Given the description of an element on the screen output the (x, y) to click on. 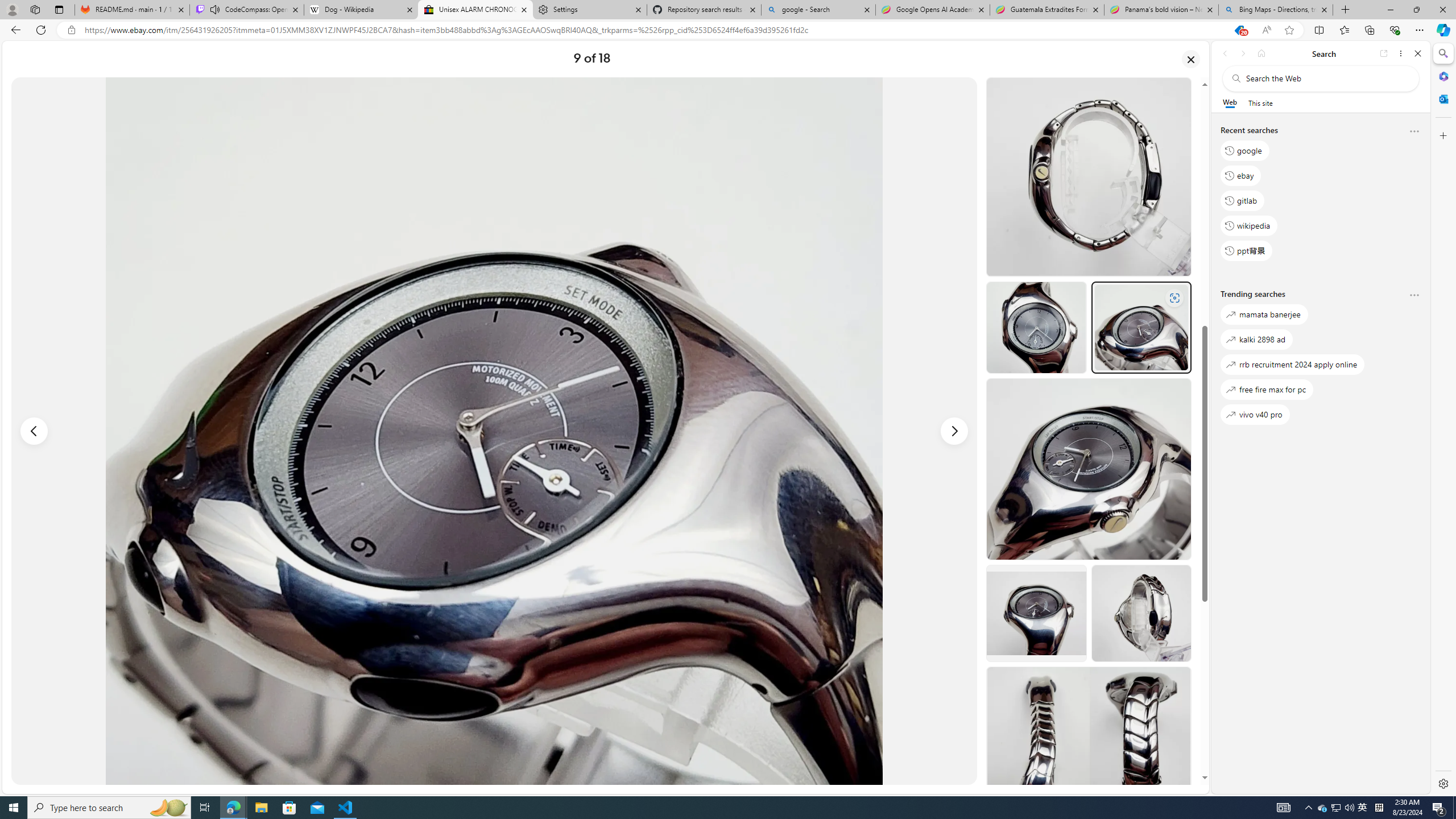
Google Opens AI Academy for Startups - Nearshore Americas (932, 9)
wikipedia (1249, 225)
